Given the description of an element on the screen output the (x, y) to click on. 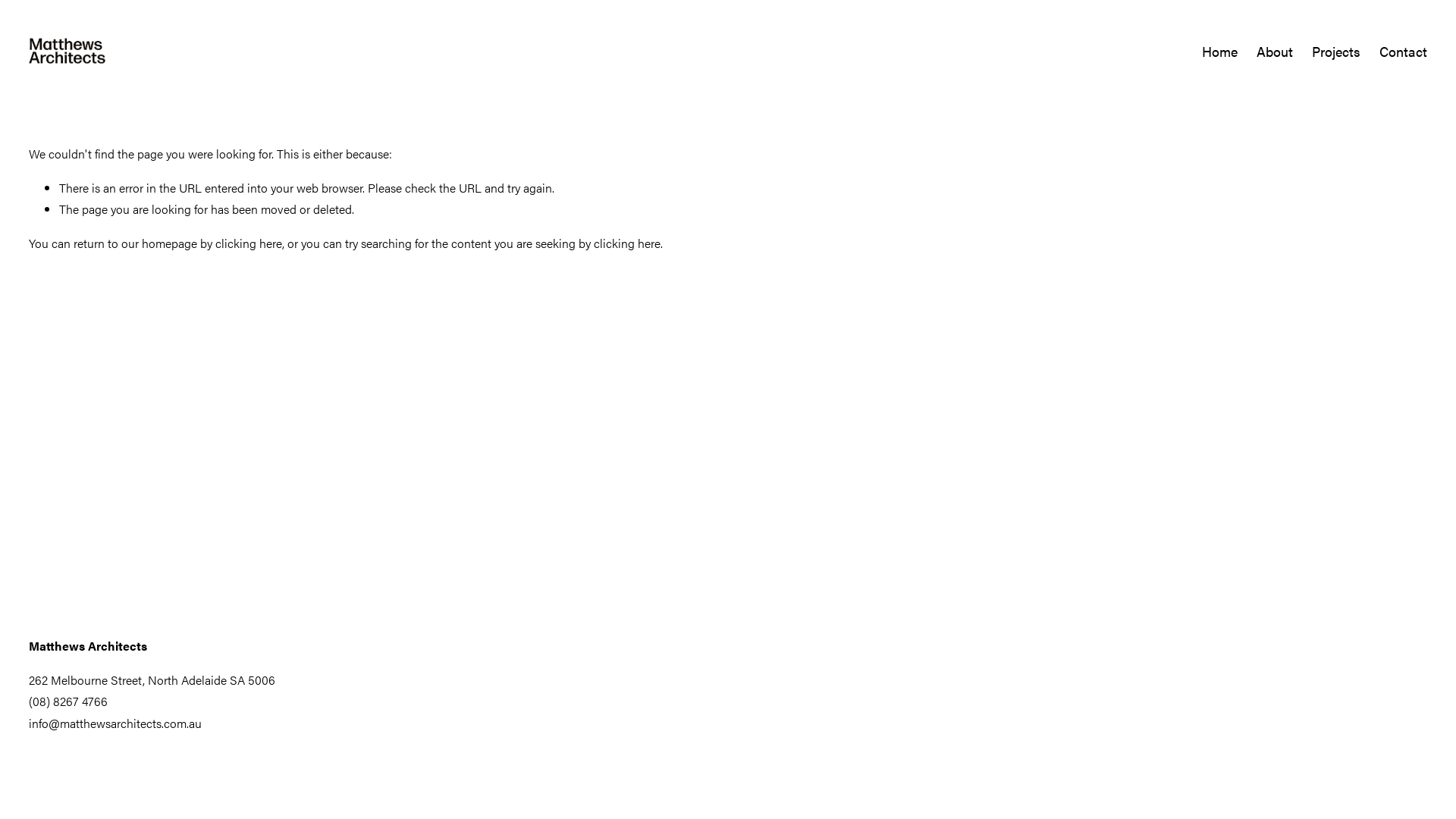
Projects Element type: text (1335, 51)
About Element type: text (1274, 51)
Home Element type: text (1219, 51)
Contact Element type: text (1403, 51)
clicking here Element type: text (248, 242)
clicking here Element type: text (626, 242)
